Given the description of an element on the screen output the (x, y) to click on. 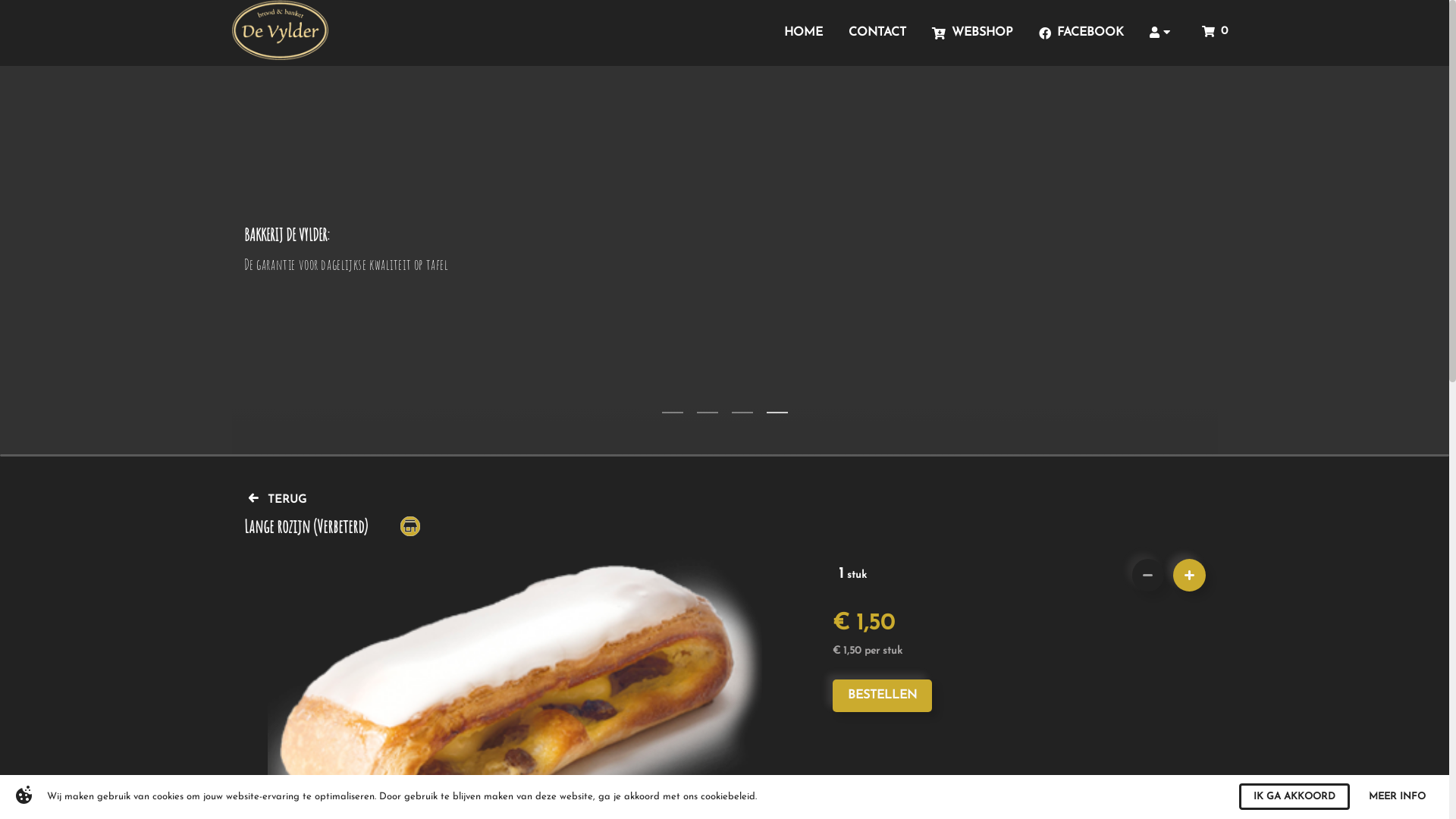
MORE INFO Element type: text (1403, 796)
I AGREE Element type: text (1320, 796)
